Given the description of an element on the screen output the (x, y) to click on. 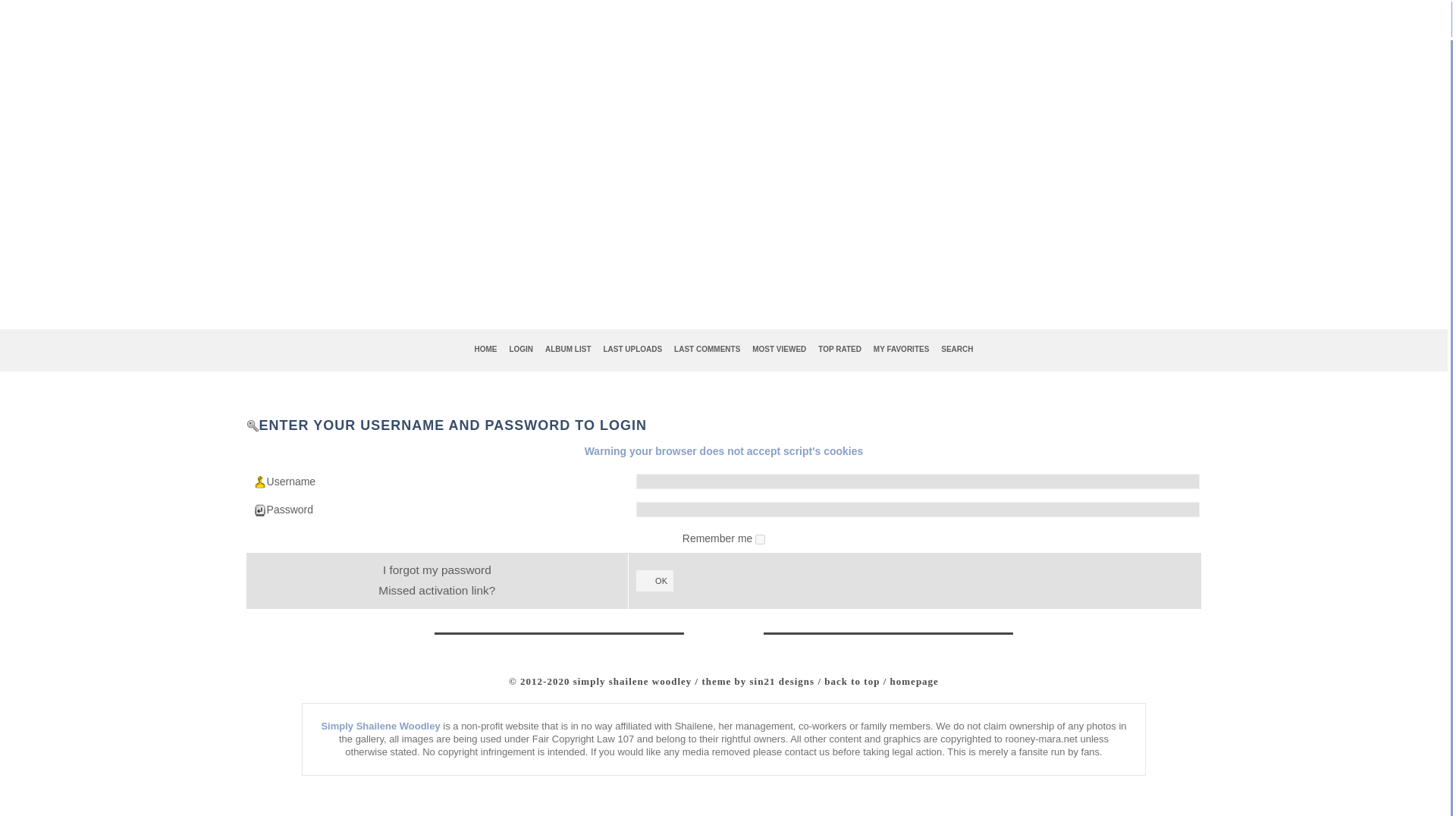
LAST COMMENTS (706, 349)
1 (760, 539)
Show top rated items (839, 349)
Log me in (520, 349)
homepage (914, 681)
LOGIN (520, 349)
OK (654, 580)
Go to the home page (486, 349)
Show most recent comments (706, 349)
HOME (486, 349)
SEARCH (956, 349)
Missed activation link? (436, 590)
back to top (851, 681)
ALBUM LIST (567, 349)
TOP RATED (839, 349)
